Given the description of an element on the screen output the (x, y) to click on. 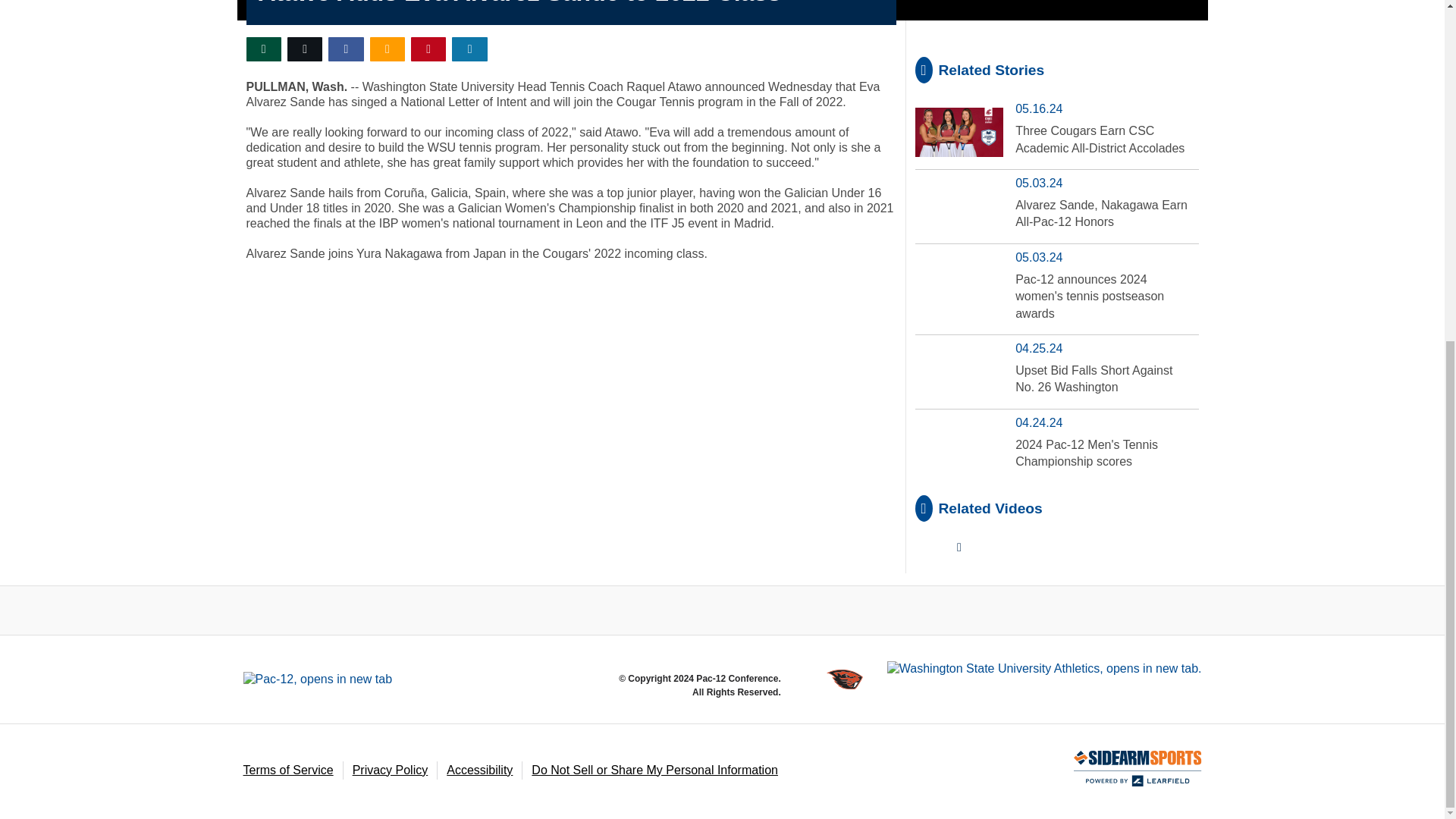
Three Cougars Earn CSC Academic All-District Accolades (1099, 138)
Sidearm Sports, opens in new window (1137, 769)
Pac-12 announces 2024 women's tennis postseason awards (1088, 296)
Terms of Service (288, 769)
Sidearm Sports, opens in new window (1137, 771)
2024 Pac-12 Men's Tennis Championship scores (1085, 452)
Alvarez Sande, Nakagawa Earn All-Pac-12 Honors (1101, 213)
Privacy Policy (390, 769)
Play Video (959, 547)
Do Not Sell or Share My Personal Information (654, 769)
